Given the description of an element on the screen output the (x, y) to click on. 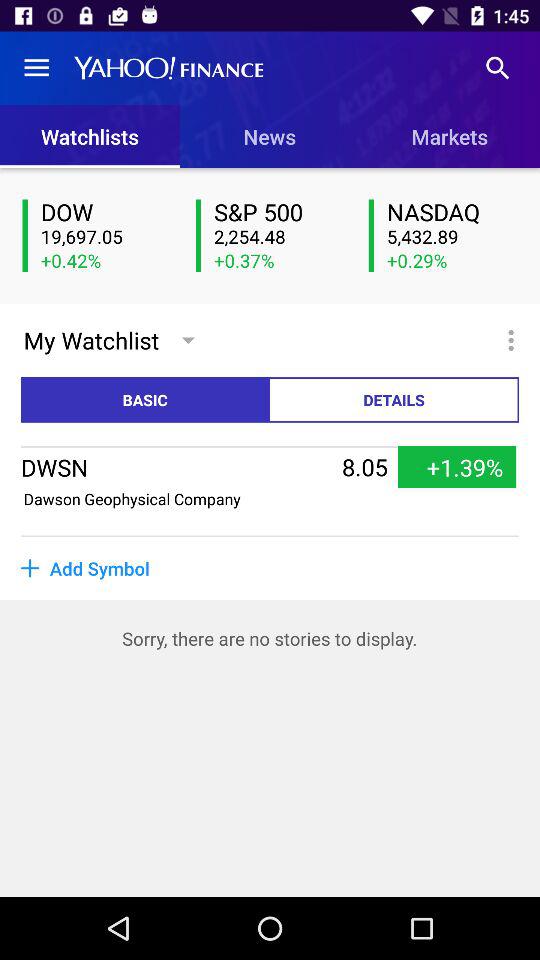
turn off icon above details icon (513, 340)
